Given the description of an element on the screen output the (x, y) to click on. 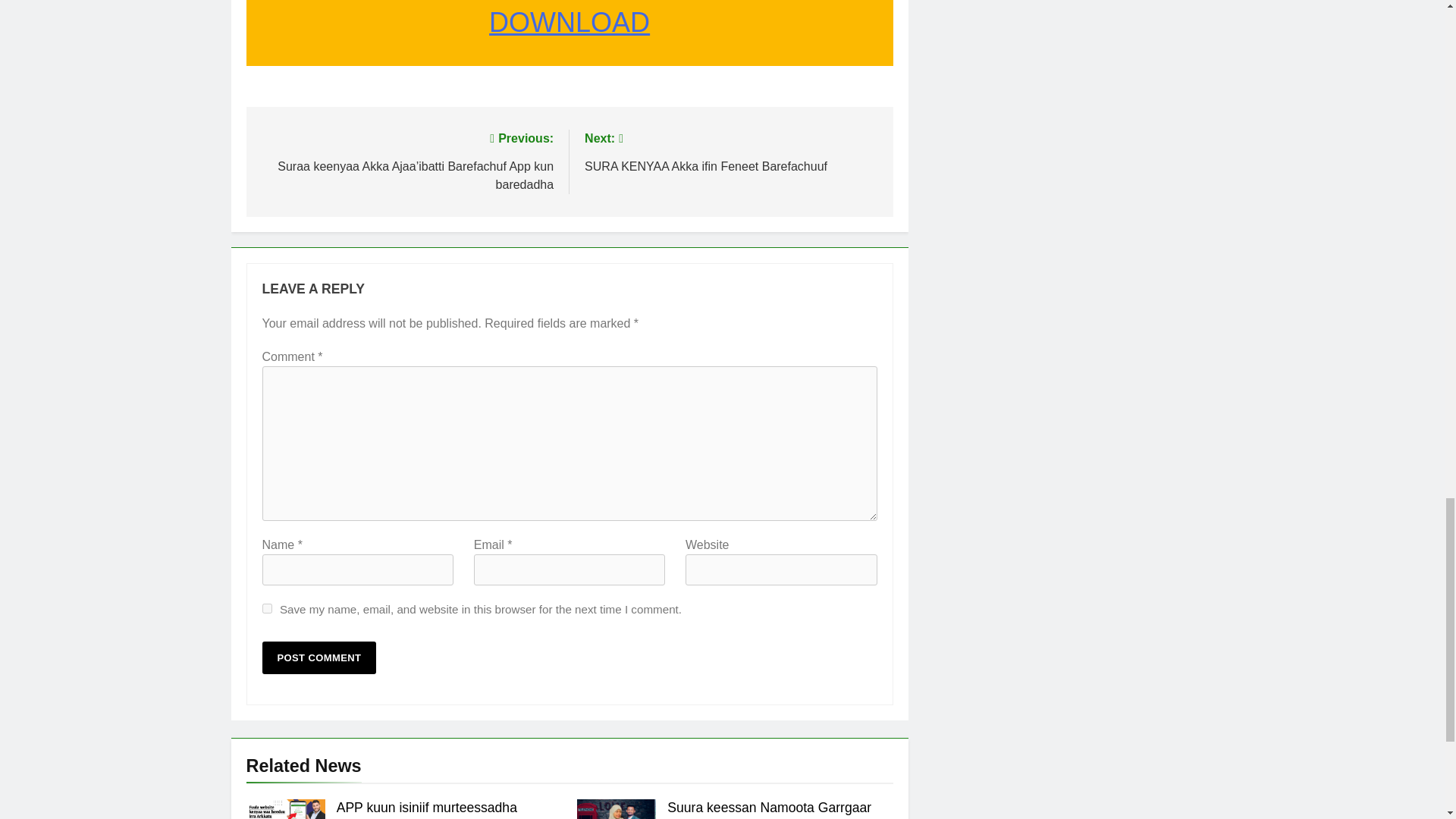
Post Comment (319, 657)
yes (267, 608)
